Given the description of an element on the screen output the (x, y) to click on. 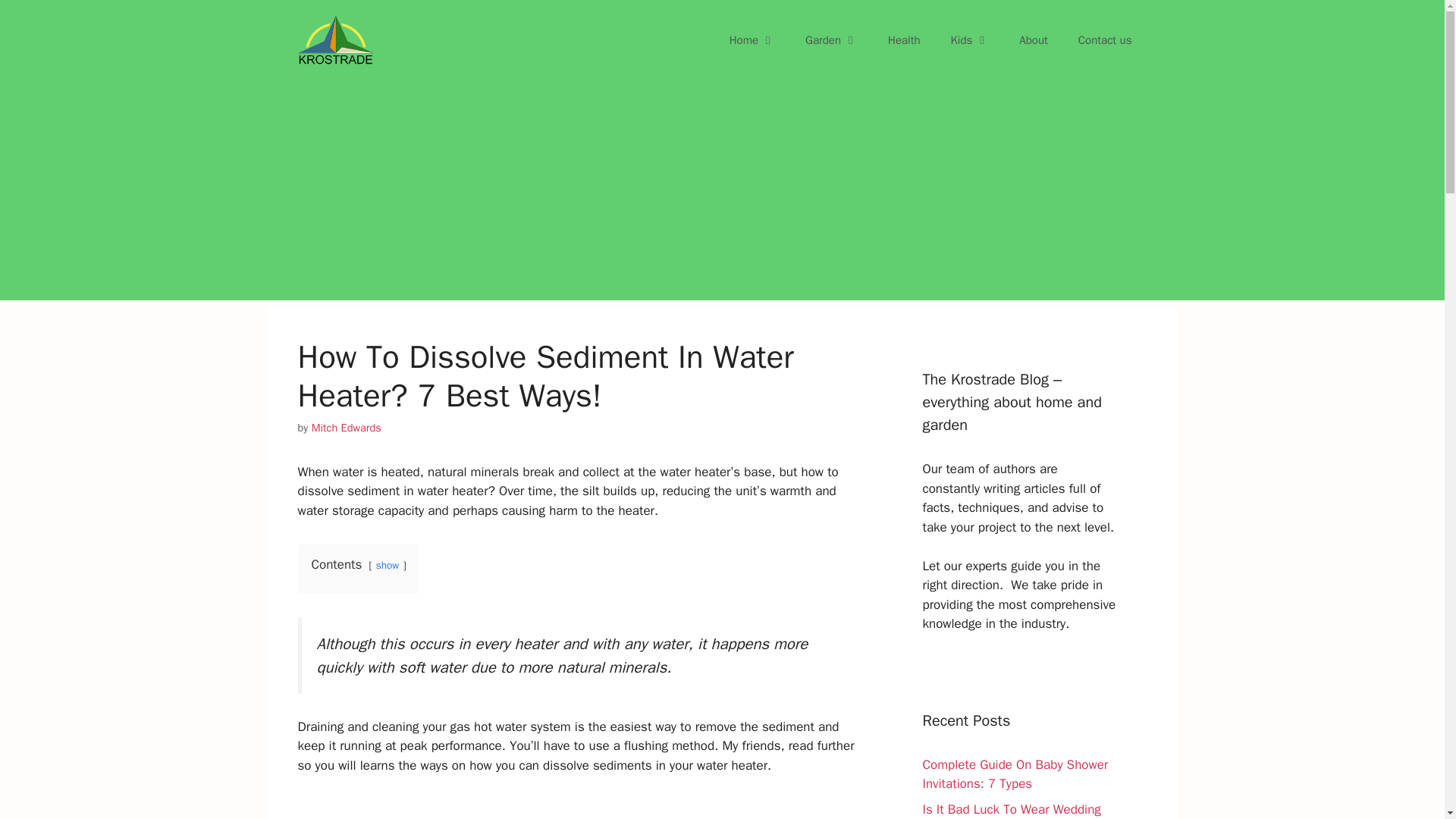
Kids (970, 40)
About (1033, 40)
View all posts by Mitch Edwards (346, 427)
Health (904, 40)
show (386, 564)
Home (752, 40)
Garden (831, 40)
Contact us (1104, 40)
Mitch Edwards (346, 427)
